Given the description of an element on the screen output the (x, y) to click on. 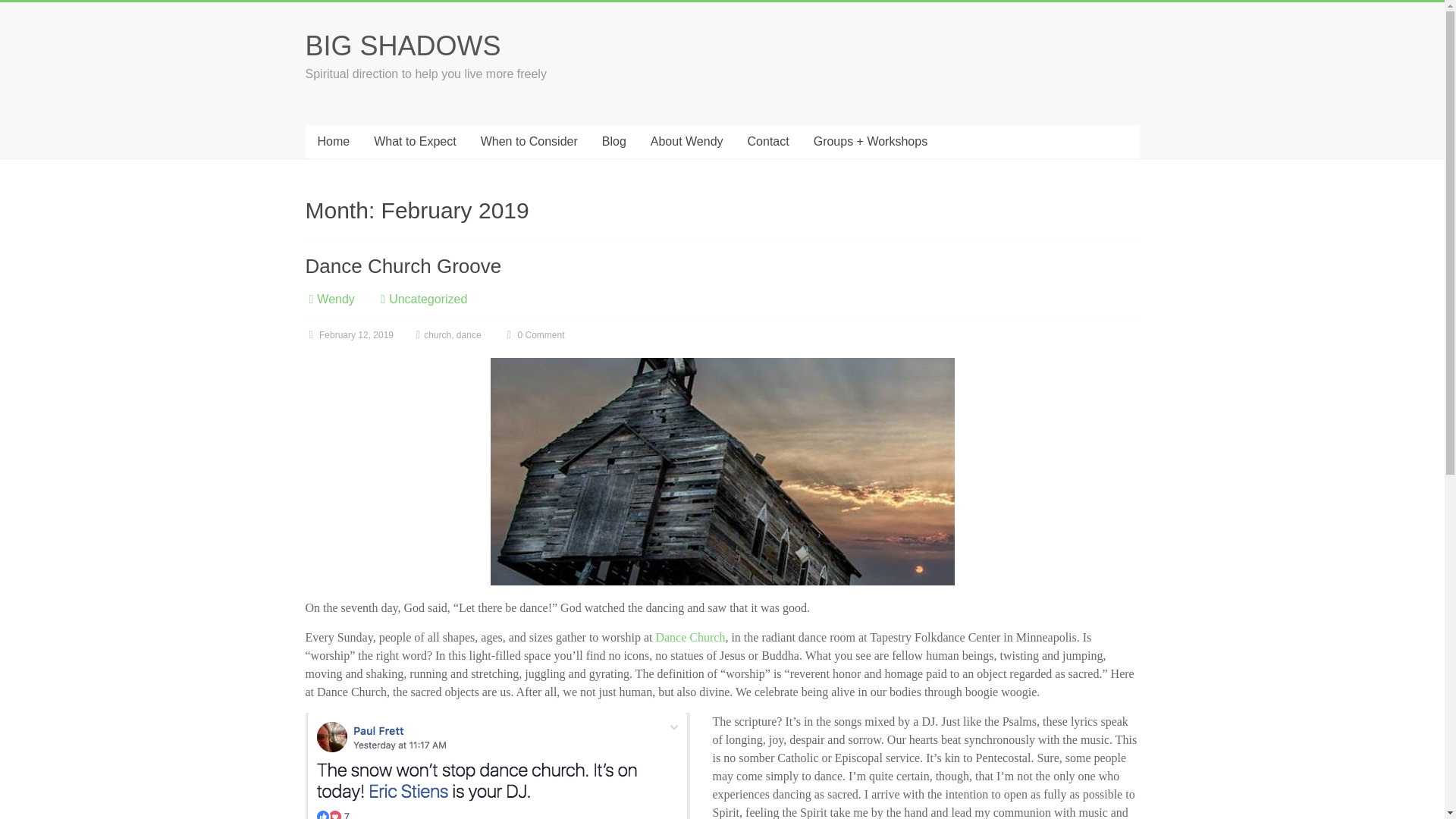
BIG SHADOWS (402, 45)
Dance Church Groove (402, 265)
Dance Church (690, 636)
What to Expect (414, 141)
About Wendy (687, 141)
dance (469, 335)
Wendy (336, 298)
Contact (768, 141)
When to Consider (528, 141)
Home (332, 141)
